Given the description of an element on the screen output the (x, y) to click on. 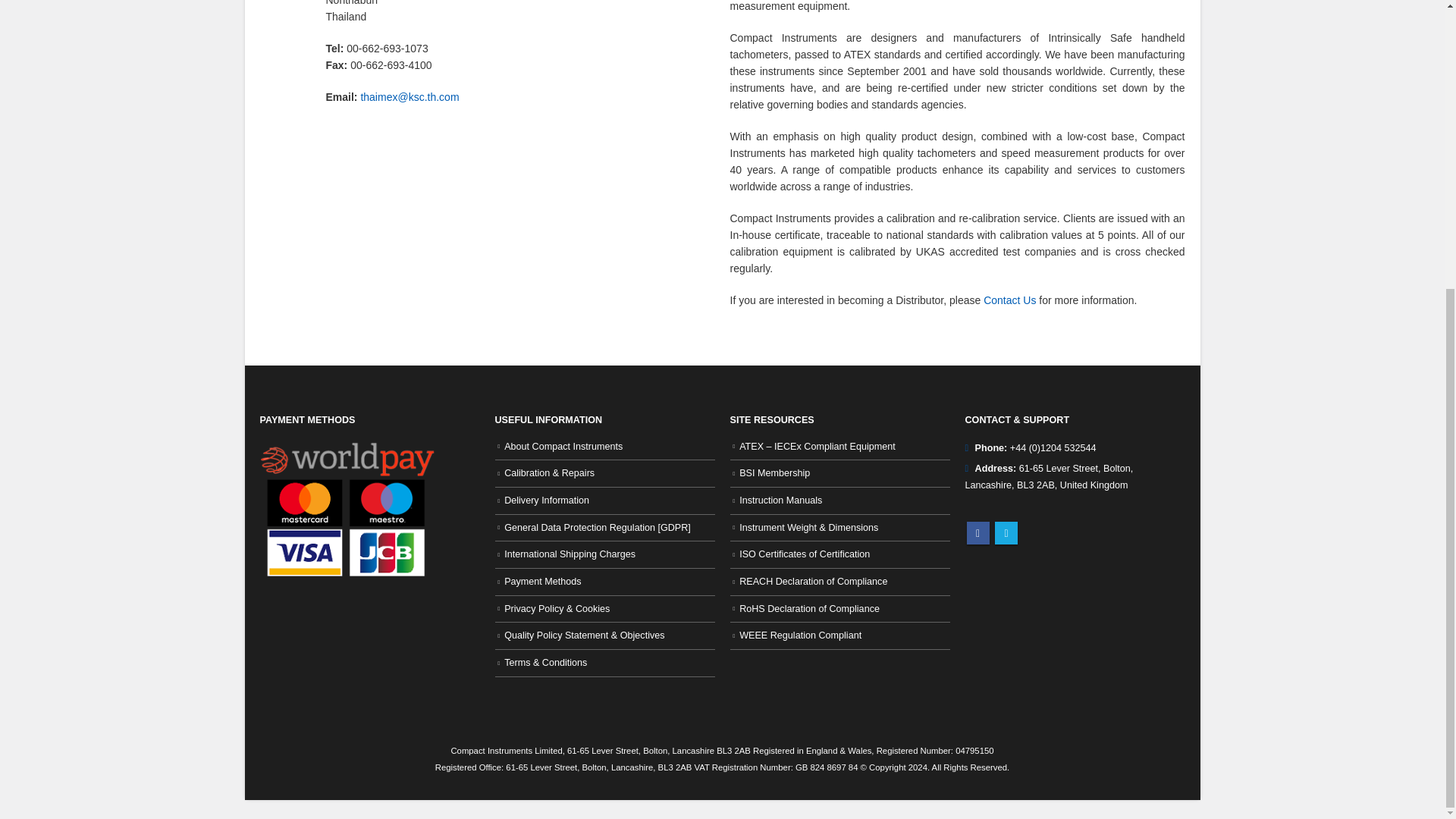
Twitter (1005, 532)
Facebook (977, 532)
Compact Instruments Ltd Payment Methods (346, 532)
